Given the description of an element on the screen output the (x, y) to click on. 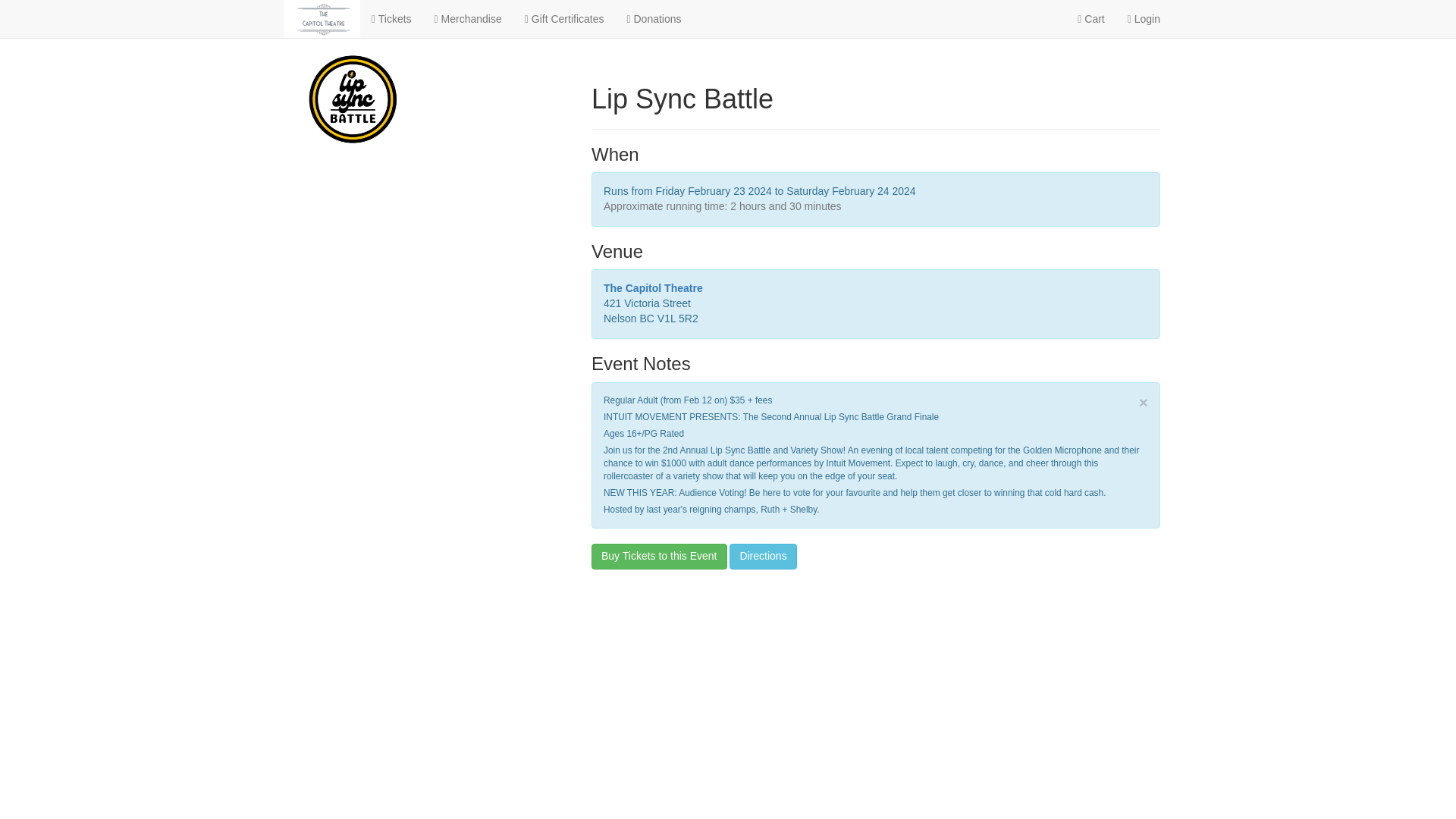
Gift Certificates (564, 18)
Login (1144, 18)
Directions (762, 556)
Buy Tickets to this Event (658, 556)
Merchandise (468, 18)
The Capitol Theatre (653, 287)
Tickets (391, 18)
Donations (653, 18)
Cart (1090, 18)
